Given the description of an element on the screen output the (x, y) to click on. 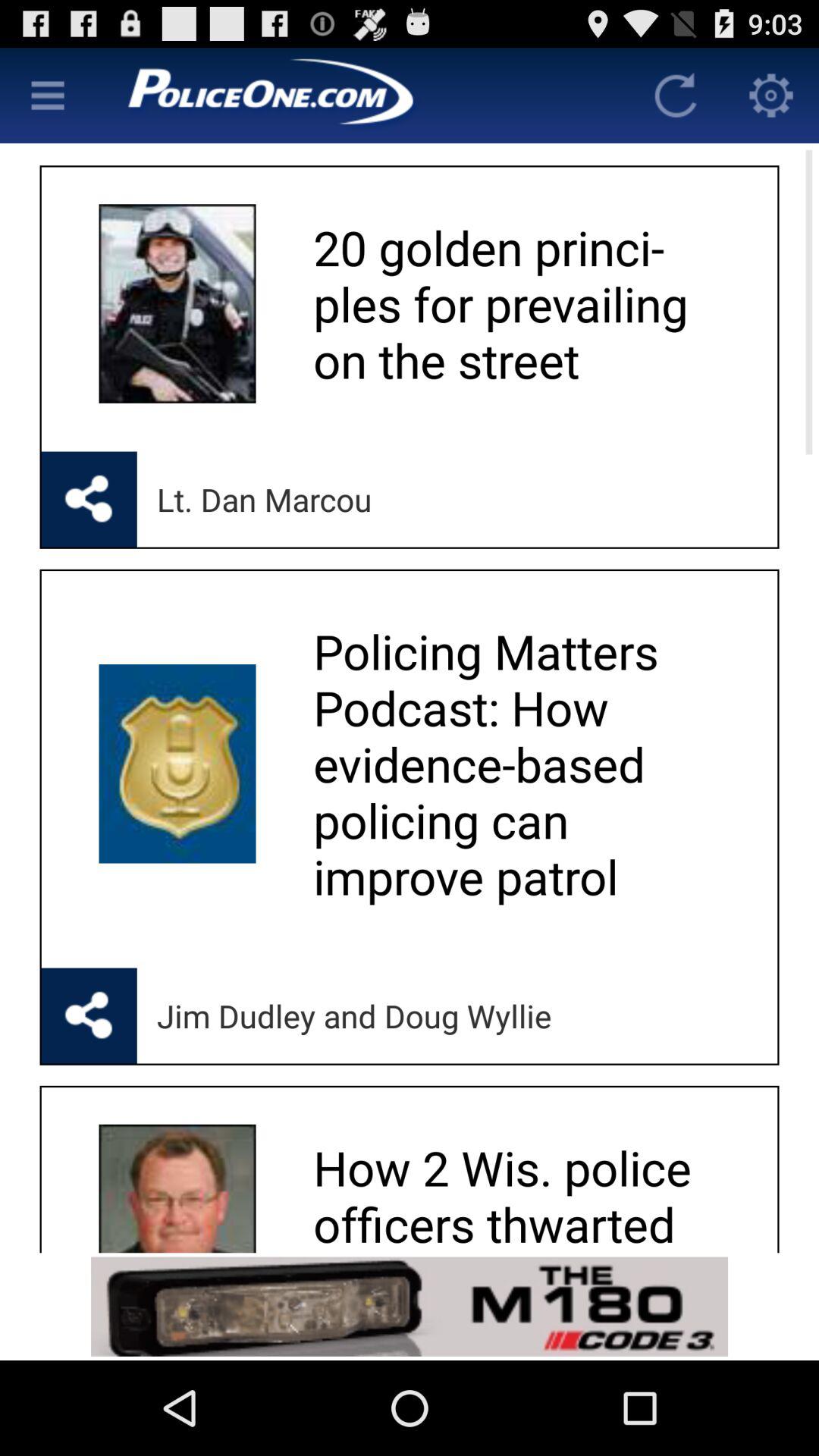
opens up sharing options (89, 499)
